Given the description of an element on the screen output the (x, y) to click on. 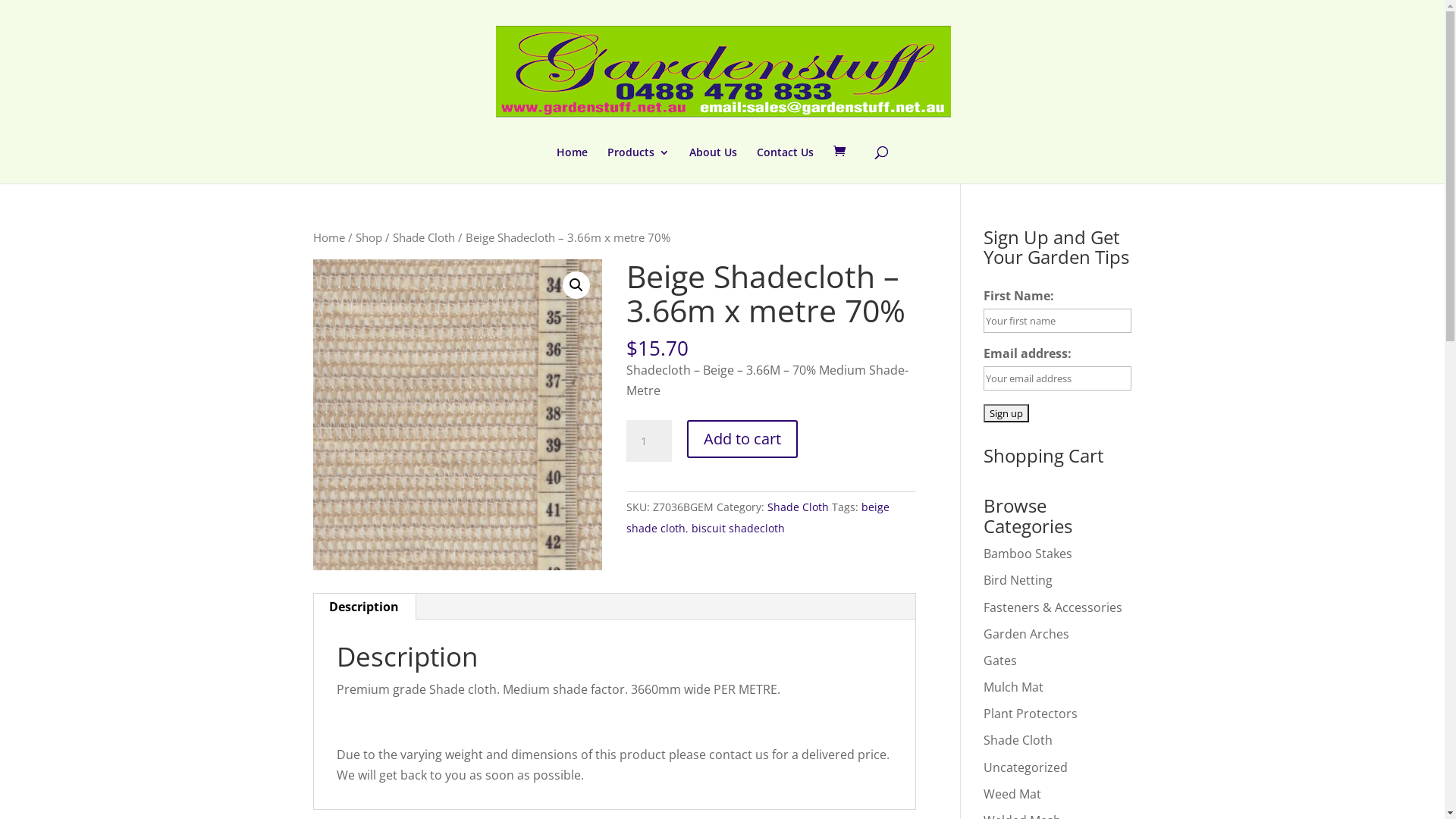
Shade Cloth Element type: text (1017, 739)
Shade Cloth Element type: text (797, 506)
Shadecloth-beige-70-metre-Gardenstuff Element type: hover (457, 415)
Gates Element type: text (999, 660)
Uncategorized Element type: text (1025, 767)
Weed Mat Element type: text (1012, 793)
Bird Netting Element type: text (1017, 579)
About Us Element type: text (713, 165)
Bamboo Stakes Element type: text (1027, 553)
Sign up Element type: text (1006, 413)
Shade Cloth Element type: text (423, 236)
beige shade cloth Element type: text (757, 516)
Home Element type: text (328, 236)
Add to cart Element type: text (742, 439)
Contact Us Element type: text (784, 165)
Shop Element type: text (367, 236)
Products Element type: text (638, 165)
Fasteners & Accessories Element type: text (1052, 607)
biscuit shadecloth Element type: text (737, 527)
Mulch Mat Element type: text (1013, 686)
Home Element type: text (571, 165)
Plant Protectors Element type: text (1030, 713)
Garden Arches Element type: text (1026, 633)
Qty Element type: hover (648, 441)
Description Element type: text (363, 606)
